Given the description of an element on the screen output the (x, y) to click on. 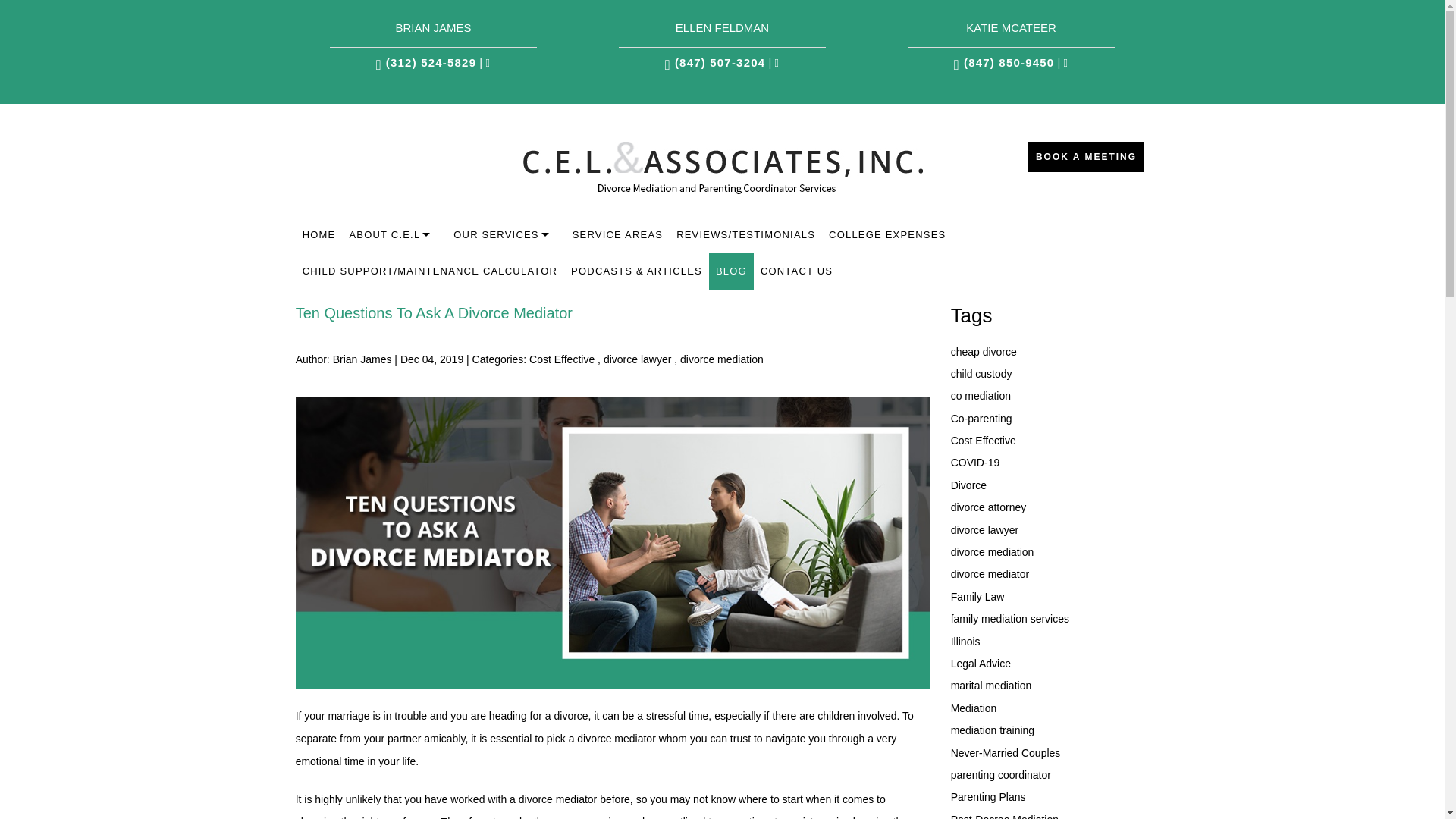
CONTACT US (797, 271)
Cost Effective (561, 358)
HOME (318, 235)
OUR SERVICES (505, 235)
ABOUT C.E.L (394, 235)
divorce lawyer (637, 358)
BOOK A MEETING (1085, 156)
divorce mediation (720, 358)
SERVICE AREAS (617, 235)
BLOG (731, 271)
